Given the description of an element on the screen output the (x, y) to click on. 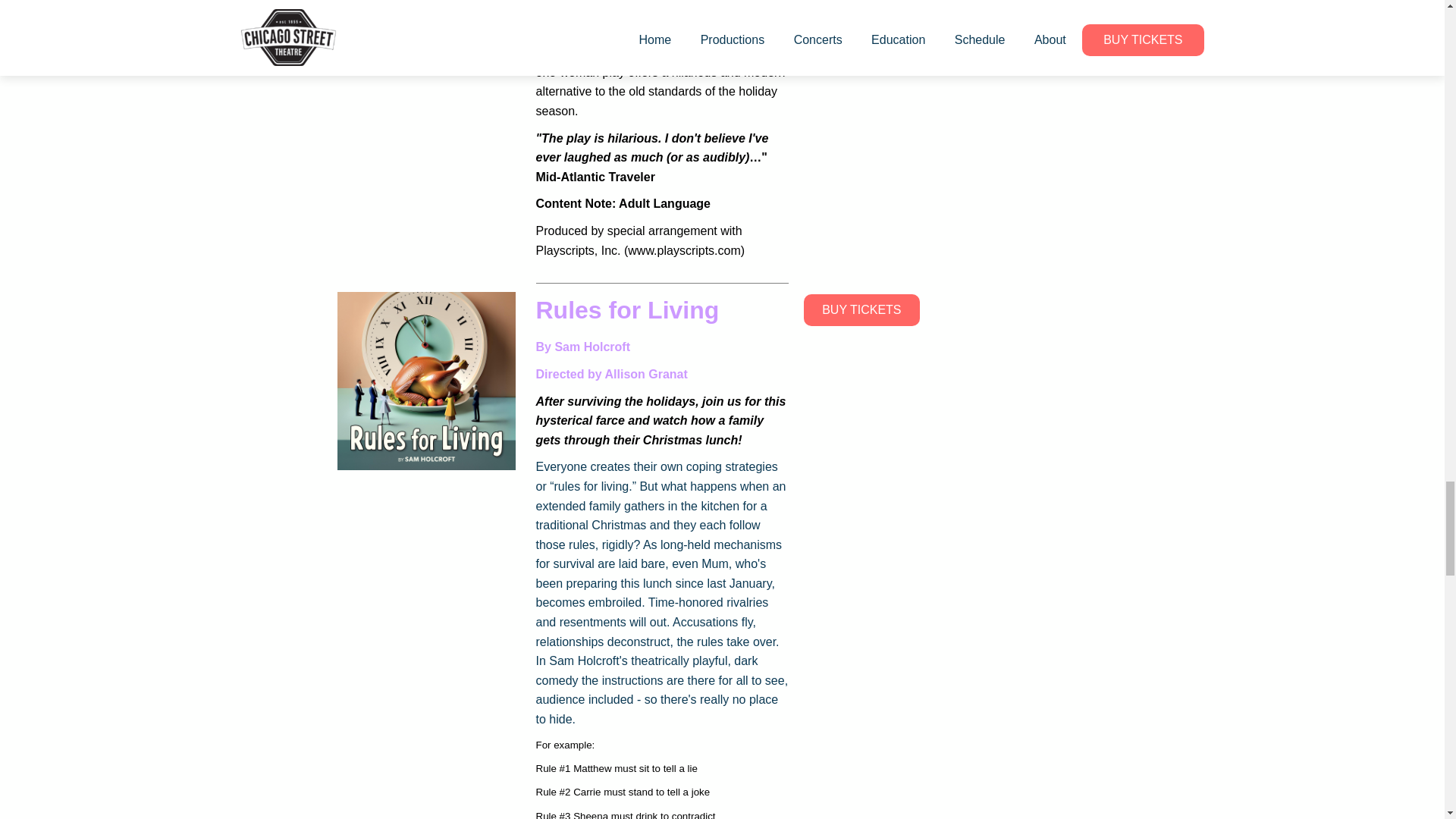
BUY TICKETS (860, 309)
